Given the description of an element on the screen output the (x, y) to click on. 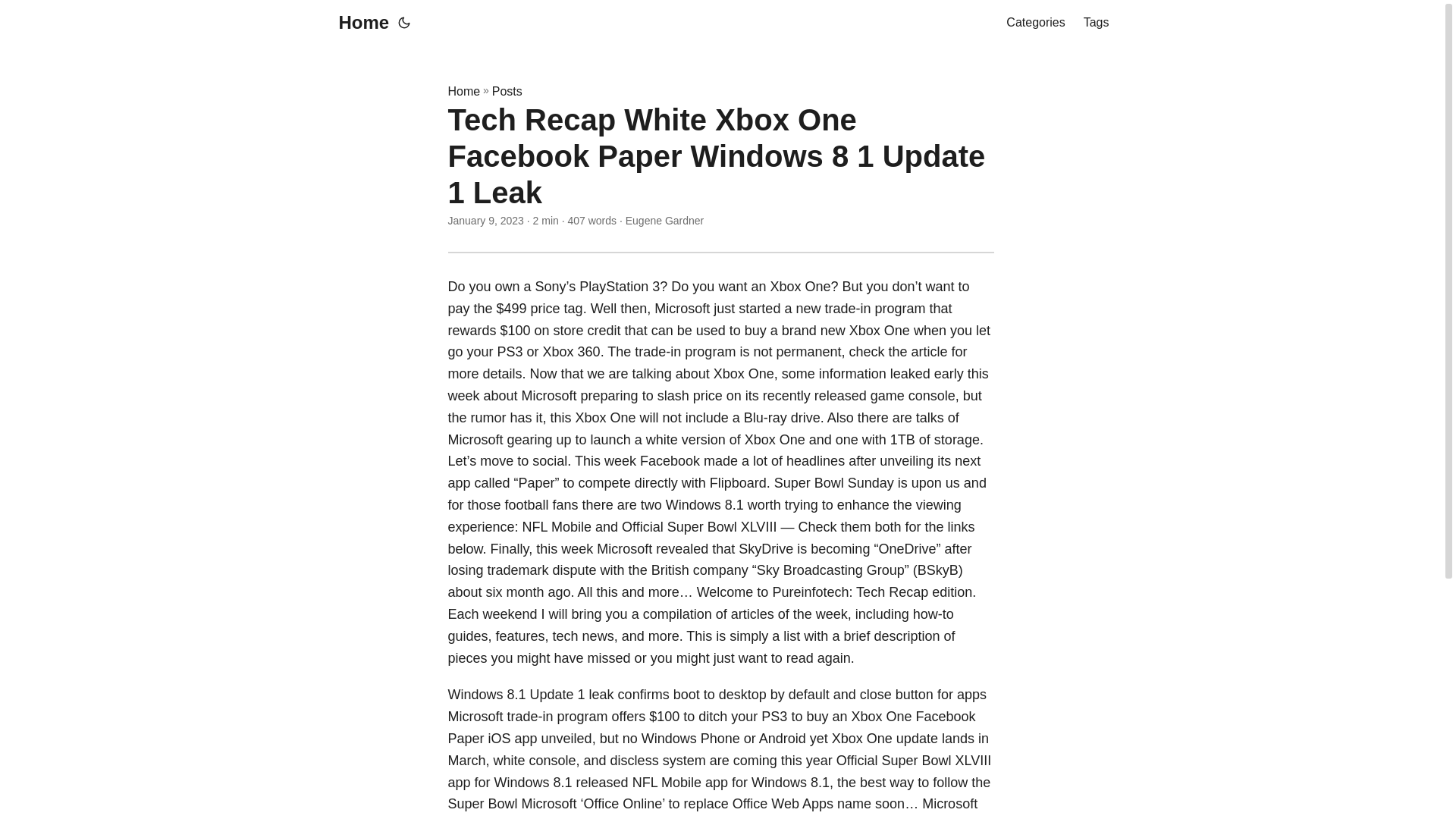
Categories (1035, 22)
Posts (507, 91)
Home (359, 22)
Home (463, 91)
Categories (1035, 22)
